Given the description of an element on the screen output the (x, y) to click on. 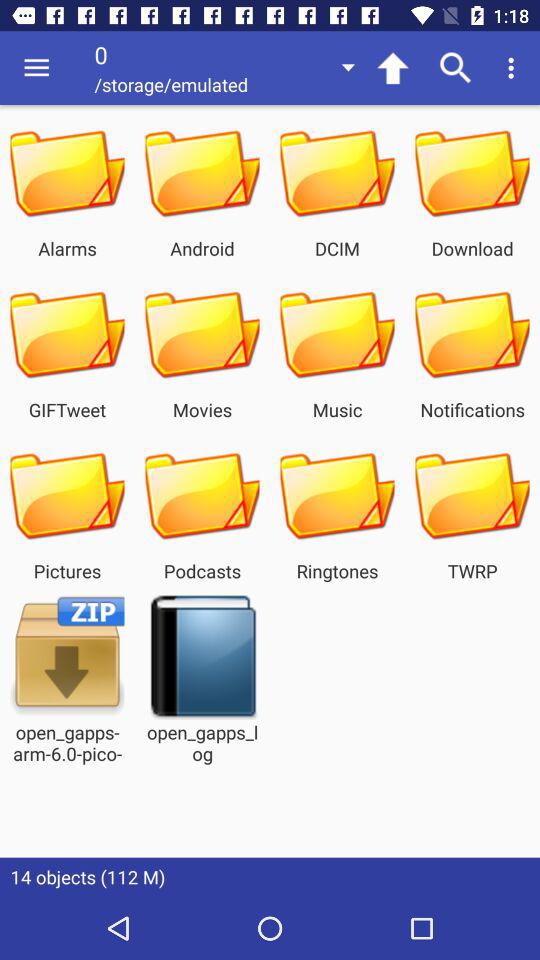
click on the movie folder icon (202, 334)
select folder icon which is above ringtones (337, 495)
select the search button which is left to three dots (456, 68)
select the image which is above the dcim (337, 173)
click on giftweet (67, 334)
